Given the description of an element on the screen output the (x, y) to click on. 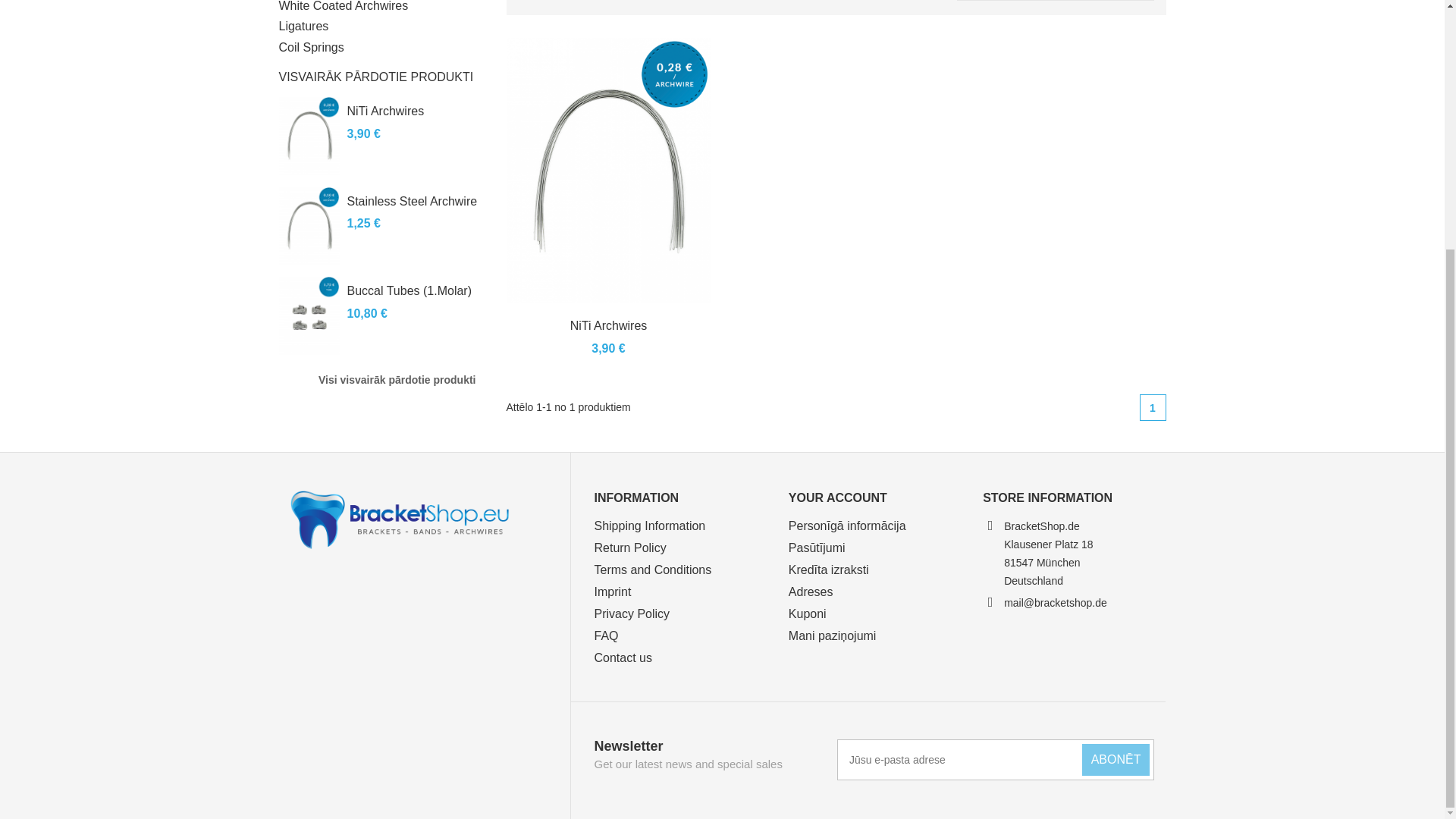
NiTi Archwires (386, 110)
Contact us (622, 657)
Kuponi (808, 613)
Return Policy (629, 546)
Coil Springs (381, 47)
Imprint (612, 590)
Privacy Policy (631, 613)
Information (636, 496)
Shipping Information (649, 525)
FAQ (605, 634)
Adreses (810, 590)
White Coated Archwires (381, 7)
Ligatures (381, 25)
Terms and Conditions (652, 569)
